Given the description of an element on the screen output the (x, y) to click on. 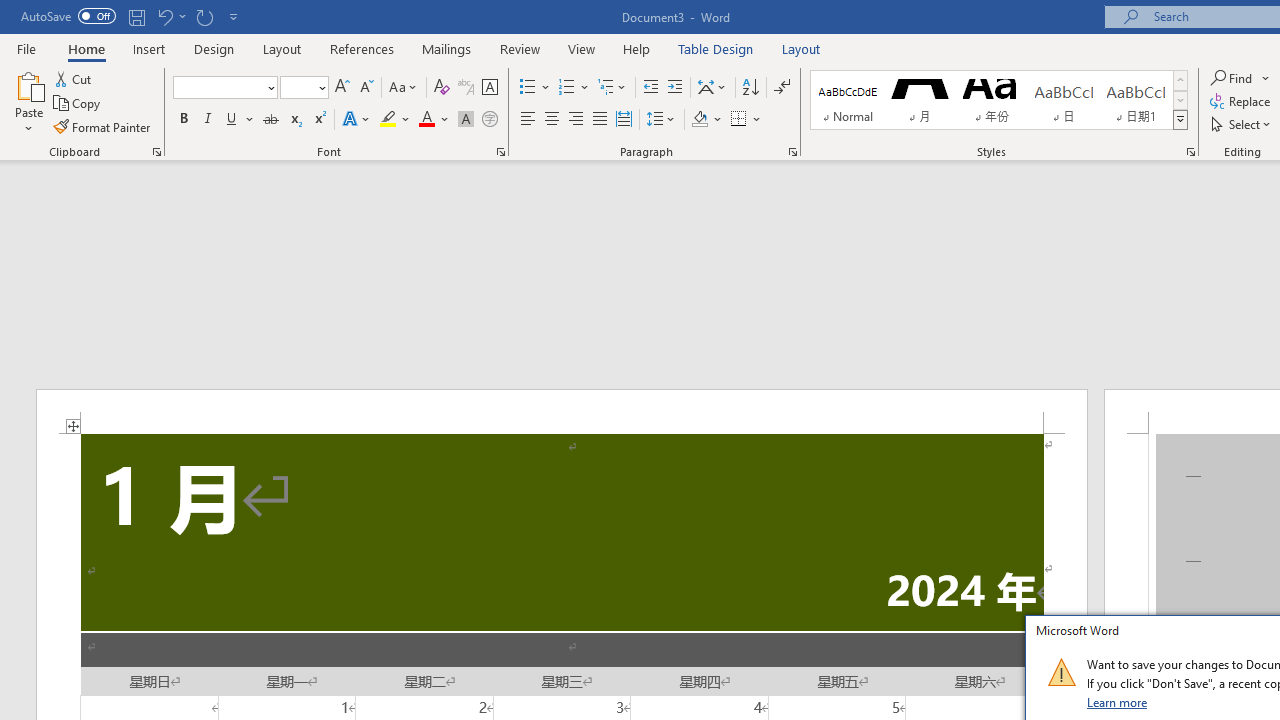
Font Color RGB(255, 0, 0) (426, 119)
